Given the description of an element on the screen output the (x, y) to click on. 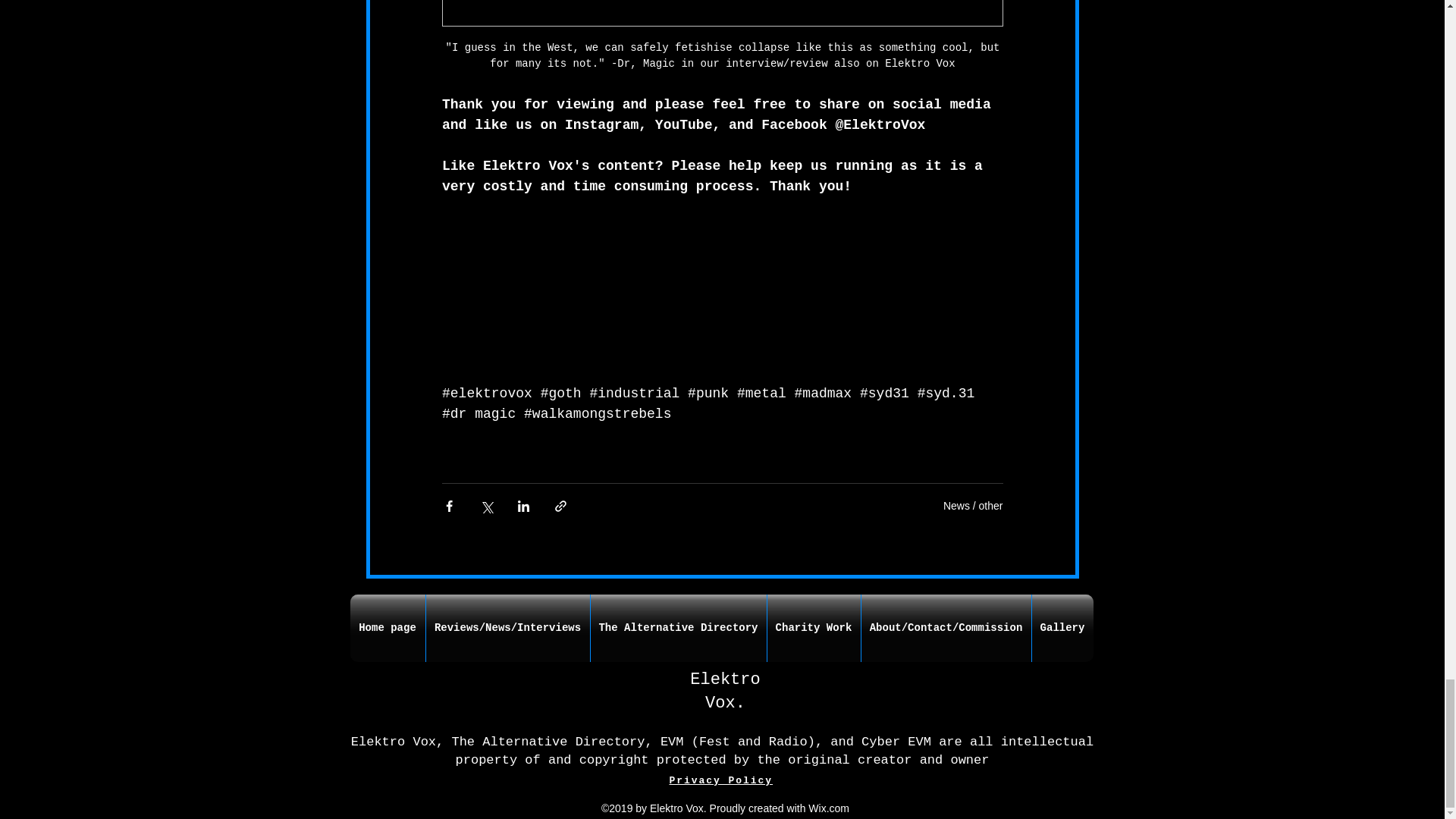
ElektroVox (883, 124)
